Given the description of an element on the screen output the (x, y) to click on. 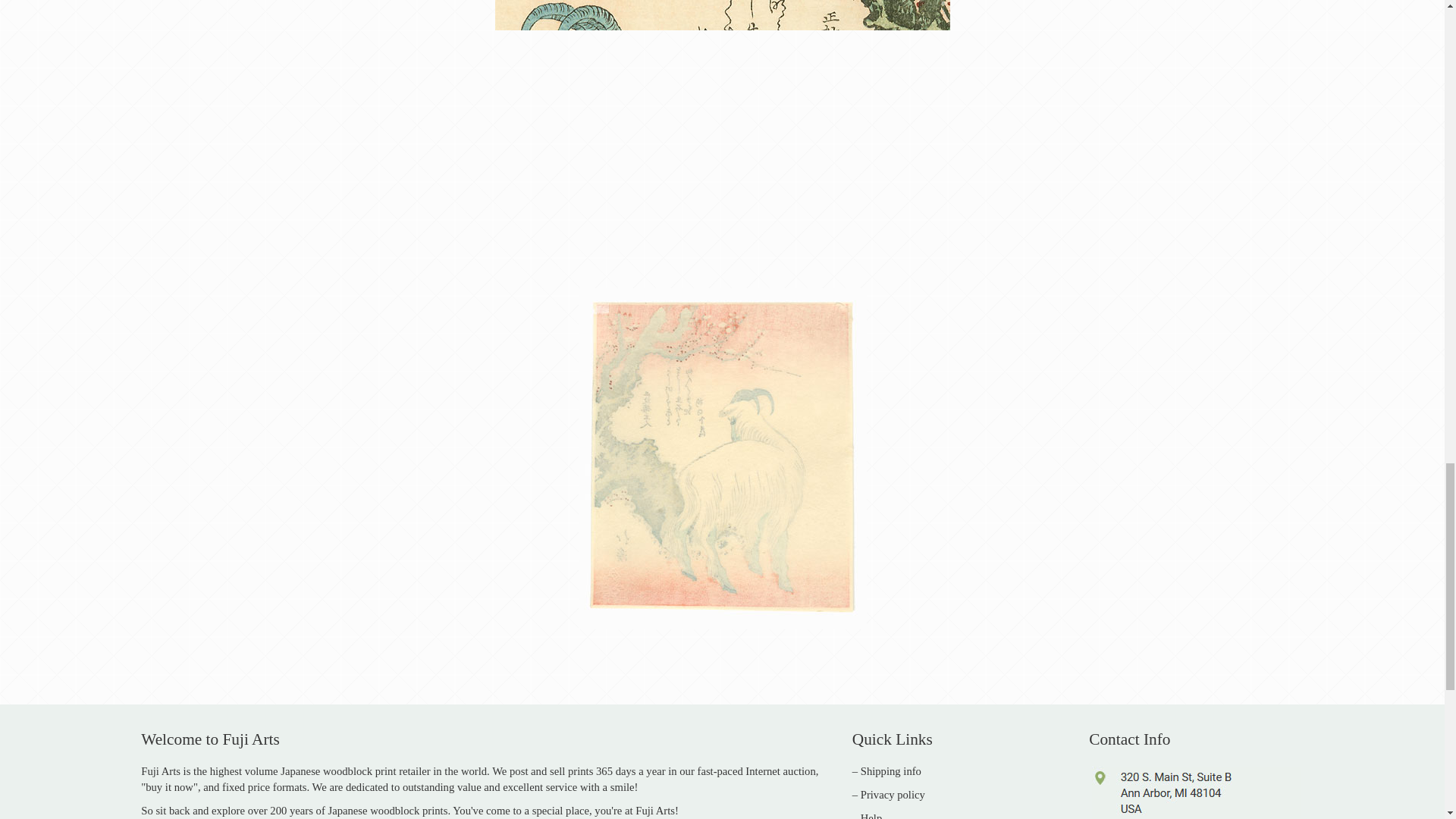
Shipping info (890, 770)
Help (871, 815)
Privacy policy (892, 794)
